Given the description of an element on the screen output the (x, y) to click on. 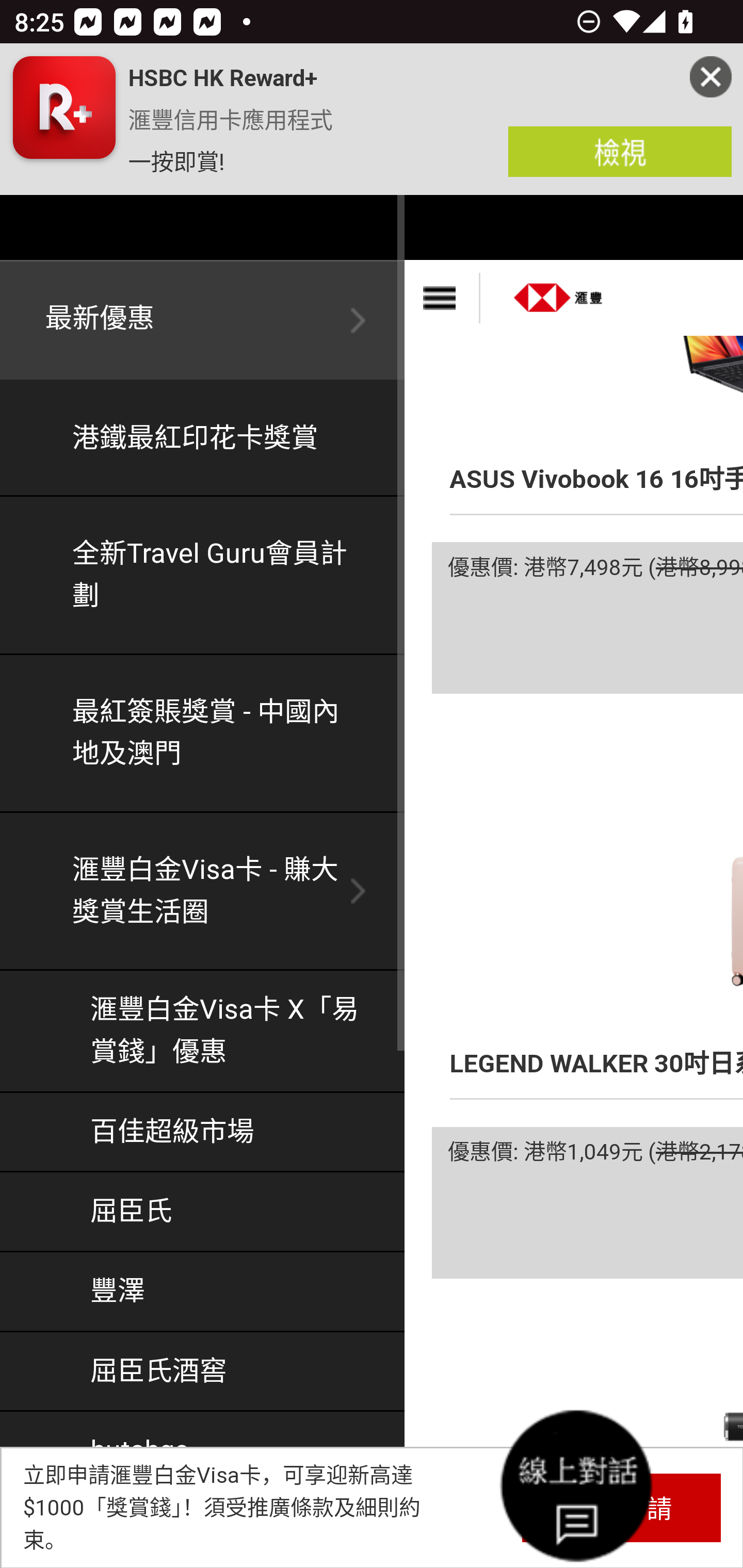
最新優惠 (203, 321)
HSBC (558, 291)
目錄 (442, 298)
港鐵最紅印花卡獎賞 港鐵最紅印花卡獎賞 港鐵最紅印花卡獎賞 (203, 439)
最紅簽賬獎賞 - 中國內地及澳門 最紅簽賬獎賞 - 中國內地及澳門 最紅簽賬獎賞 - 中國內地及澳門 (203, 733)
滙豐白金Visa卡 - 賺大獎賞生活圈 (203, 892)
滙豐白金Visa卡 X「易賞錢」優惠 (203, 1031)
百佳超級市場 (203, 1131)
屈臣氏 (203, 1211)
豐澤 (203, 1292)
屈臣氏酒窖 (203, 1370)
立即申請 (621, 1507)
最紅購物優惠 最紅購物優惠 最紅購物優惠 (203, 1529)
